Given the description of an element on the screen output the (x, y) to click on. 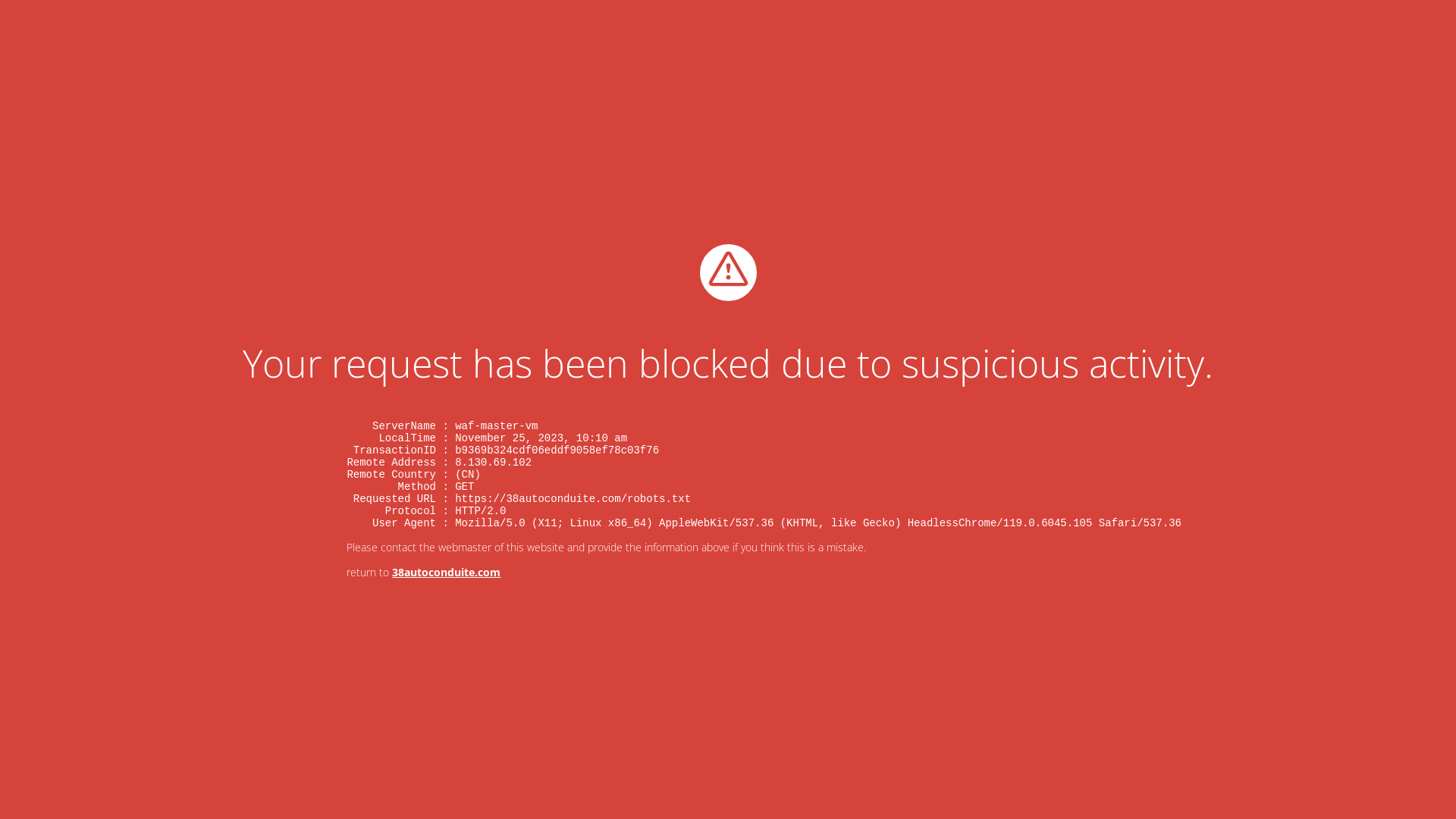
38autoconduite.com Element type: text (446, 571)
